Given the description of an element on the screen output the (x, y) to click on. 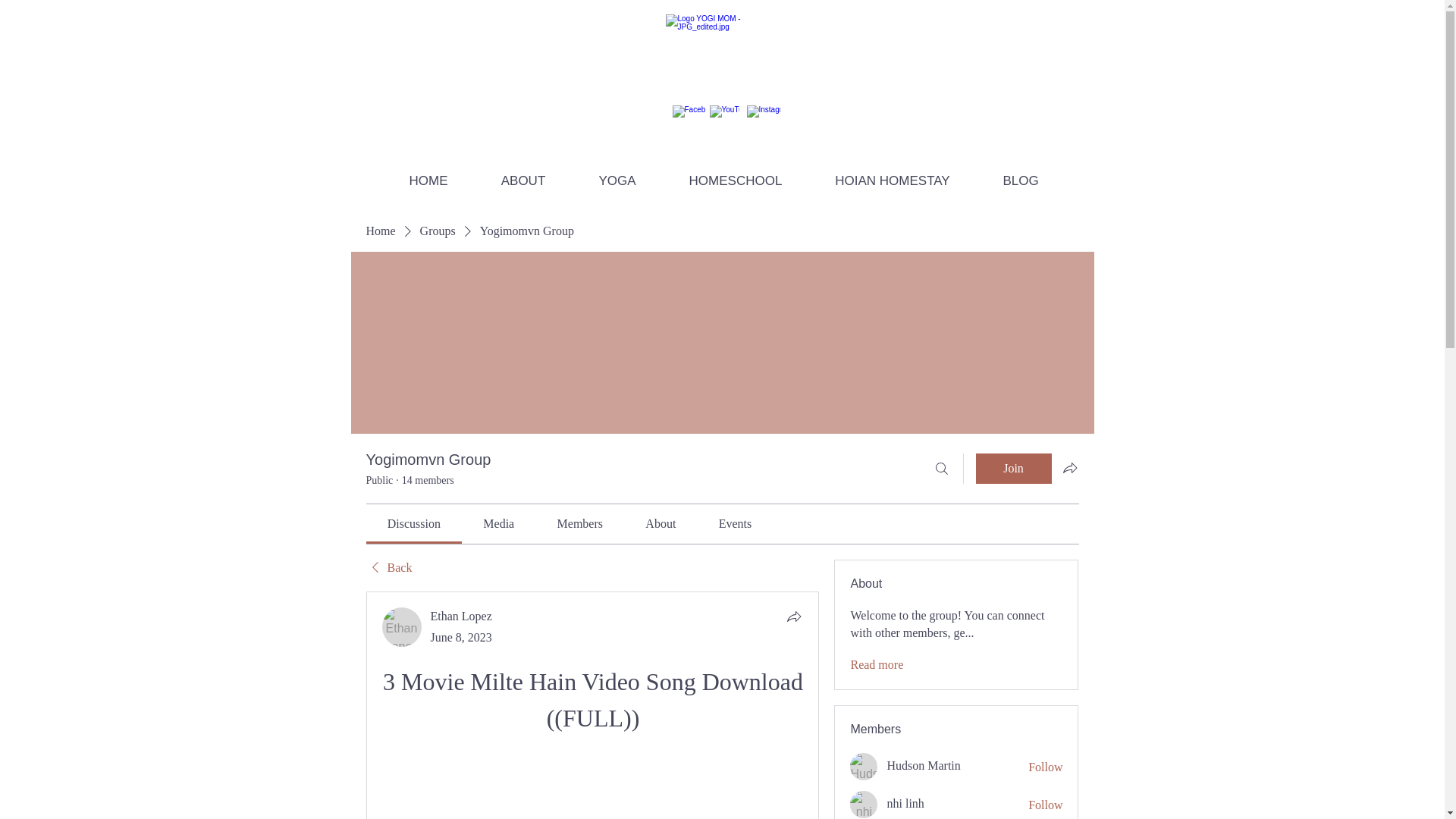
HOMESCHOOL (735, 180)
Follow (1044, 805)
nhi linh (904, 802)
Ethan Lopez (401, 627)
June 8, 2023 (461, 636)
Read more (876, 664)
Ethan Lopez (461, 615)
Hudson Martin (863, 766)
Home (379, 230)
nhi linh (863, 804)
